Given the description of an element on the screen output the (x, y) to click on. 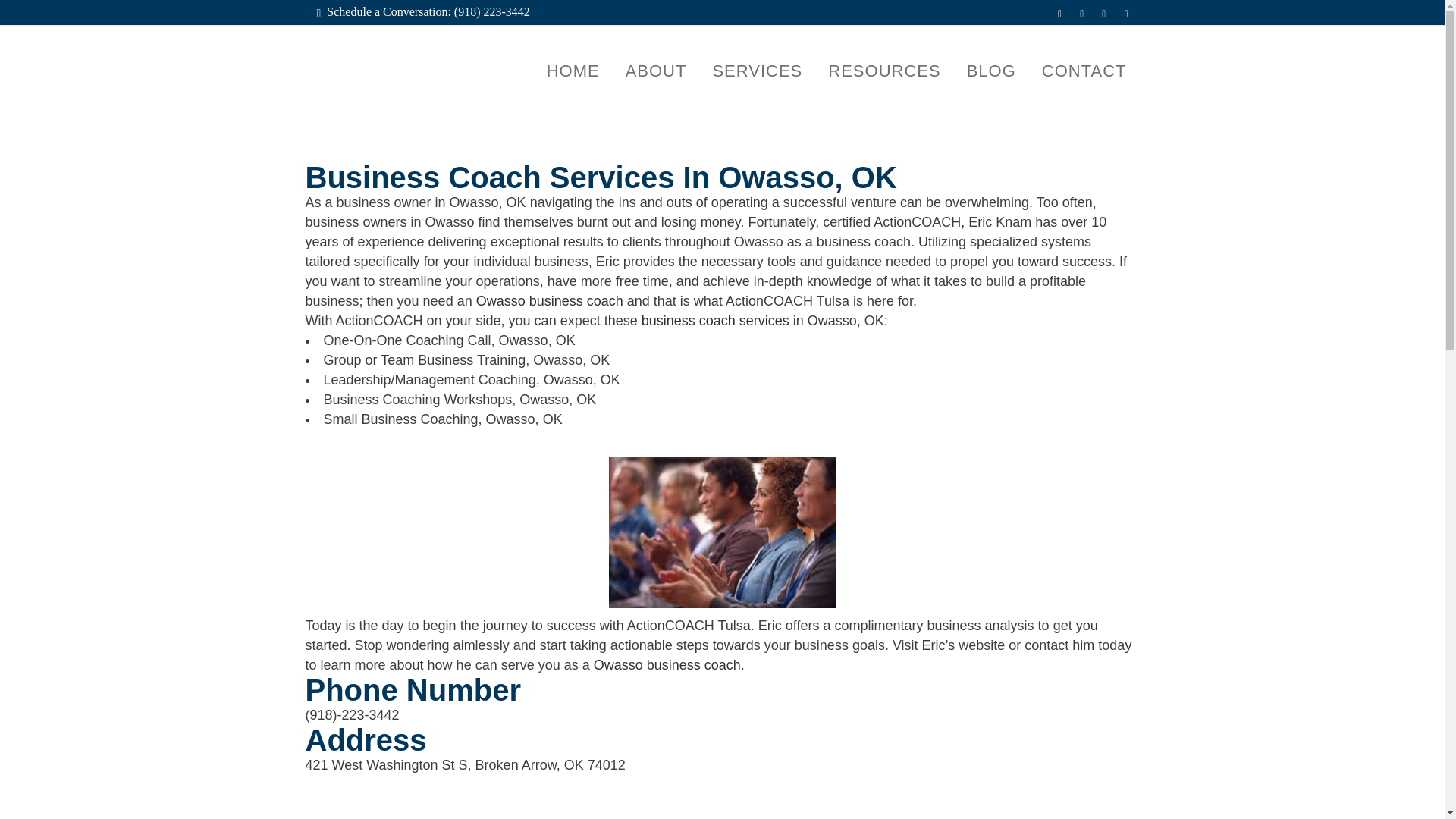
RESOURCES (884, 71)
SERVICES (756, 71)
ABOUT (656, 71)
Business Coach in Tulsa - Business Acceleration Team (721, 532)
CONTACT (1084, 71)
Owasso business coach (549, 300)
business coach services (715, 320)
Owasso business coach. (669, 664)
